Given the description of an element on the screen output the (x, y) to click on. 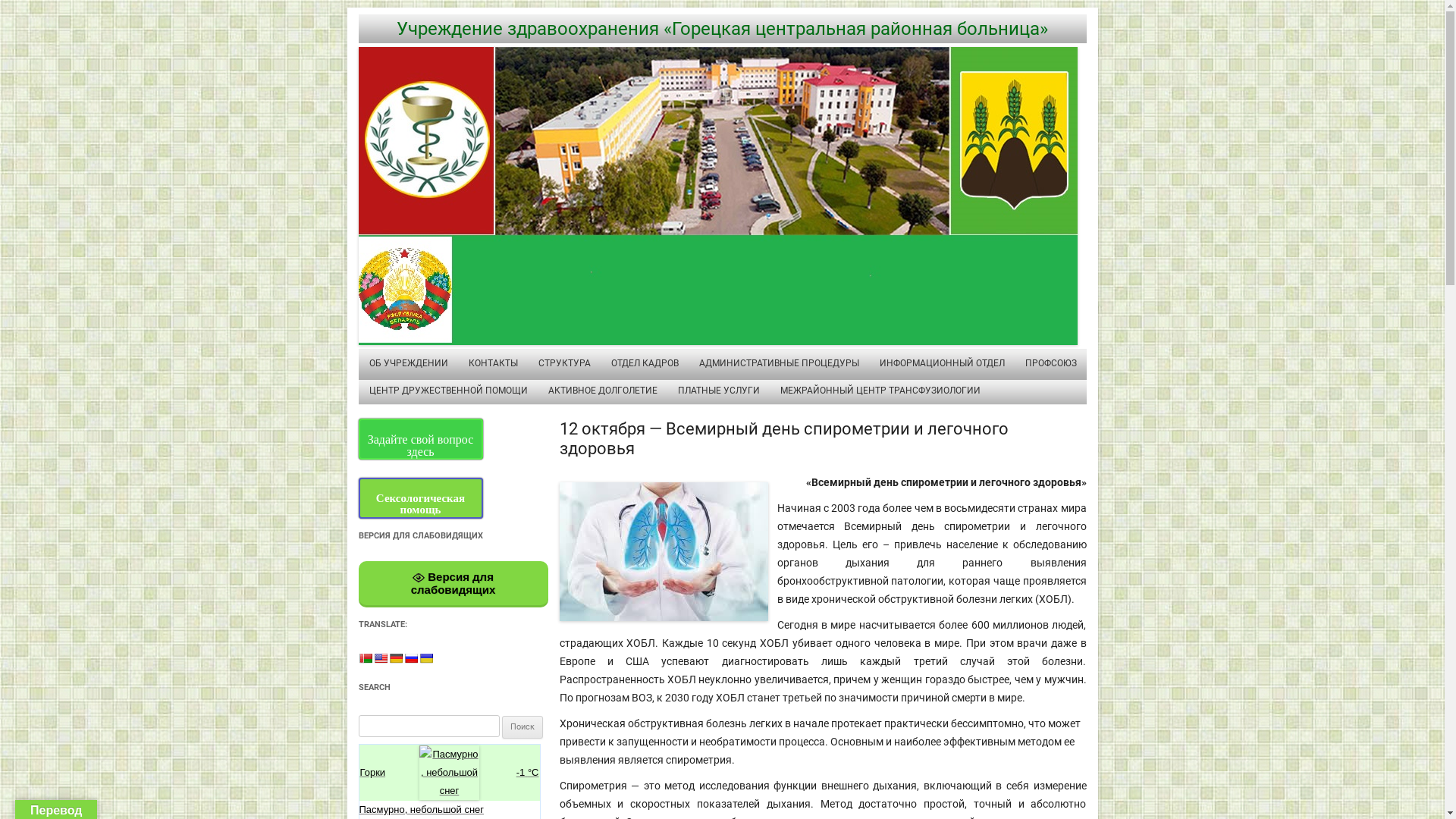
Ukrainian Element type: hover (425, 658)
German Element type: hover (394, 658)
Russian Element type: hover (410, 658)
English Element type: hover (379, 658)
Belarusian Element type: hover (364, 658)
Skip to content Element type: text (756, 351)
